Given the description of an element on the screen output the (x, y) to click on. 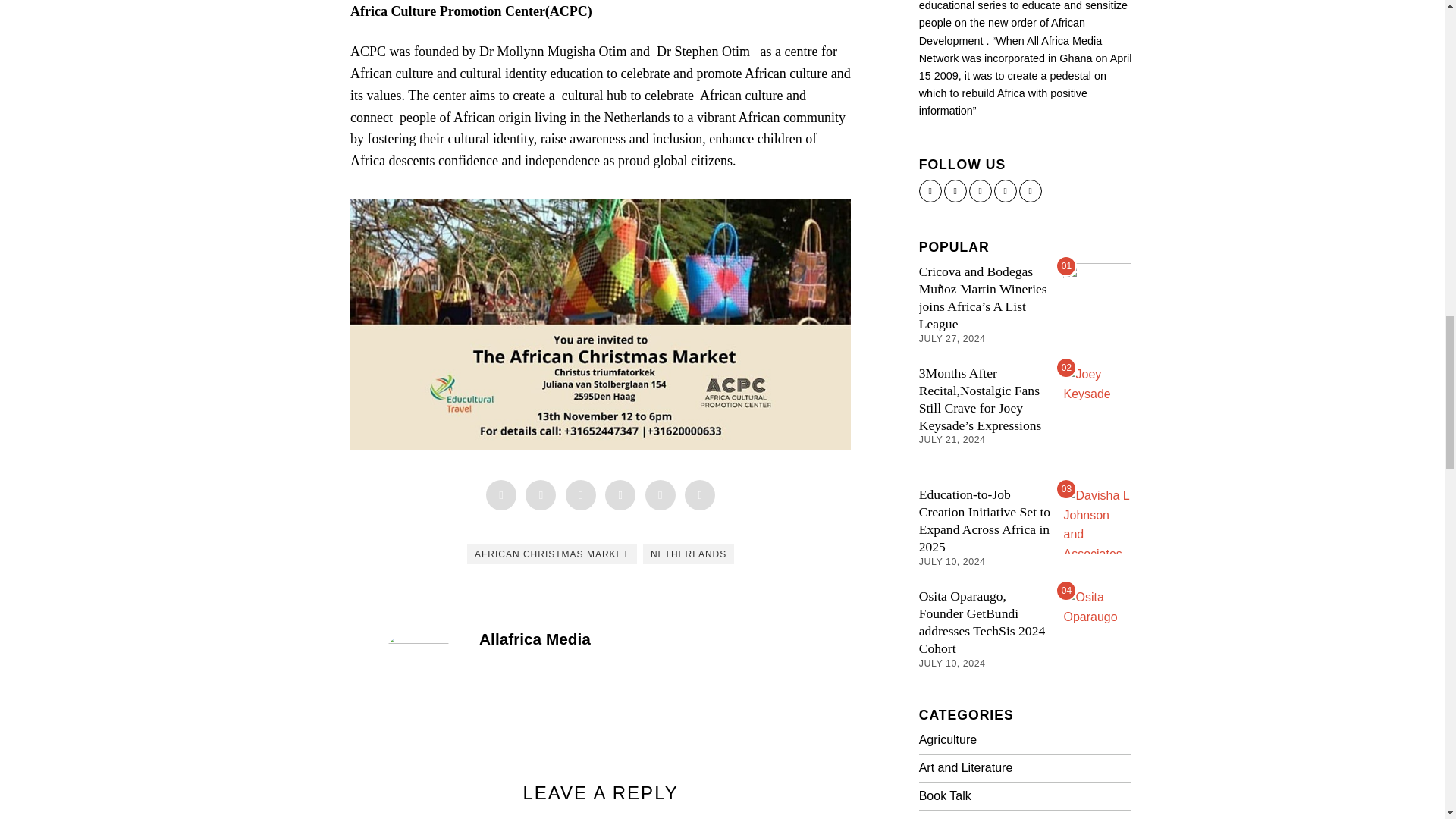
Email (699, 494)
Instagram (954, 190)
Snapchat (980, 190)
Twitter (580, 494)
Messenger (540, 494)
Twitter (930, 190)
Facebook (501, 494)
Whatsapp (660, 494)
Pinterest (619, 494)
